Given the description of an element on the screen output the (x, y) to click on. 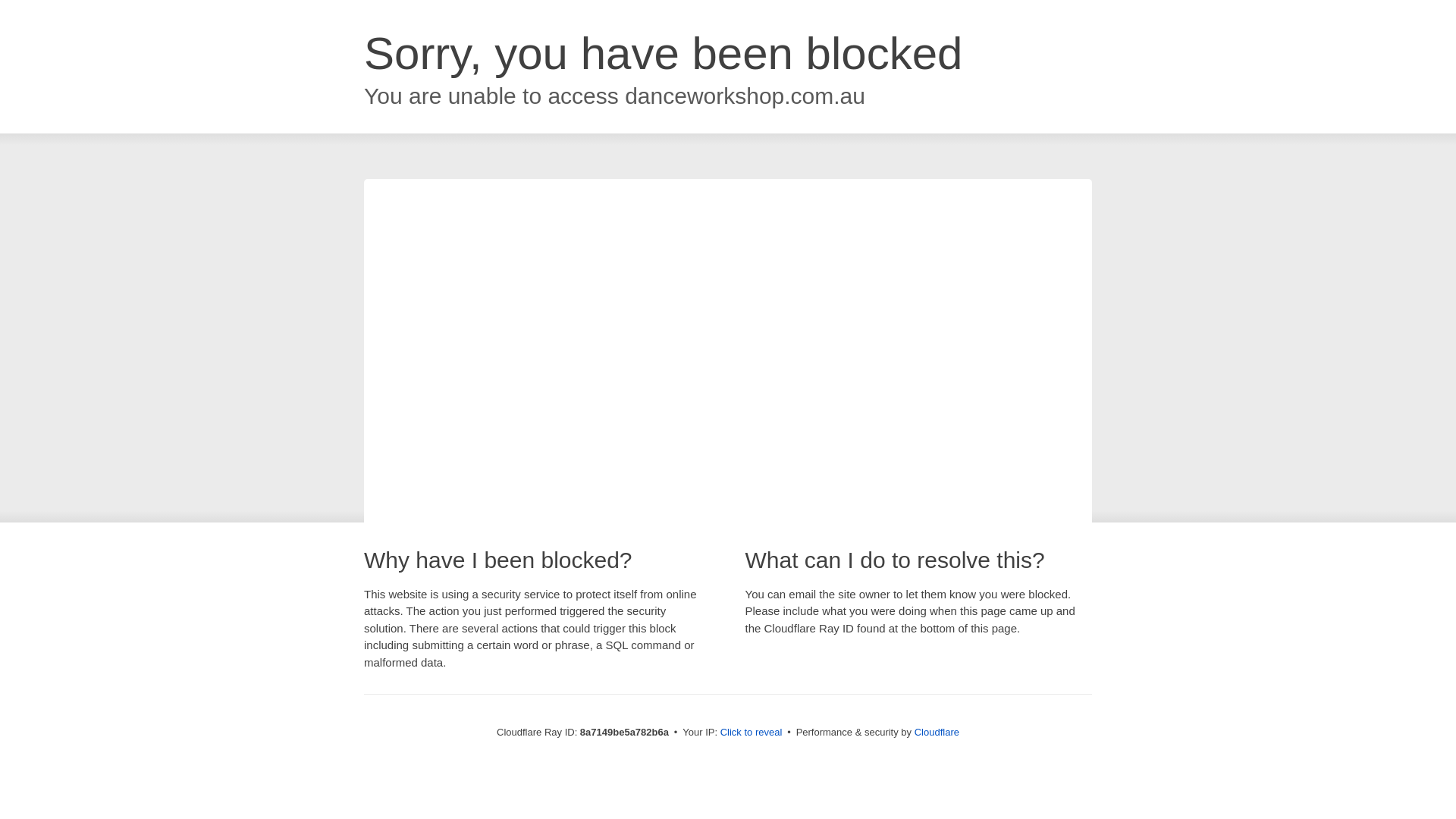
Cloudflare (936, 731)
Click to reveal (751, 732)
